Given the description of an element on the screen output the (x, y) to click on. 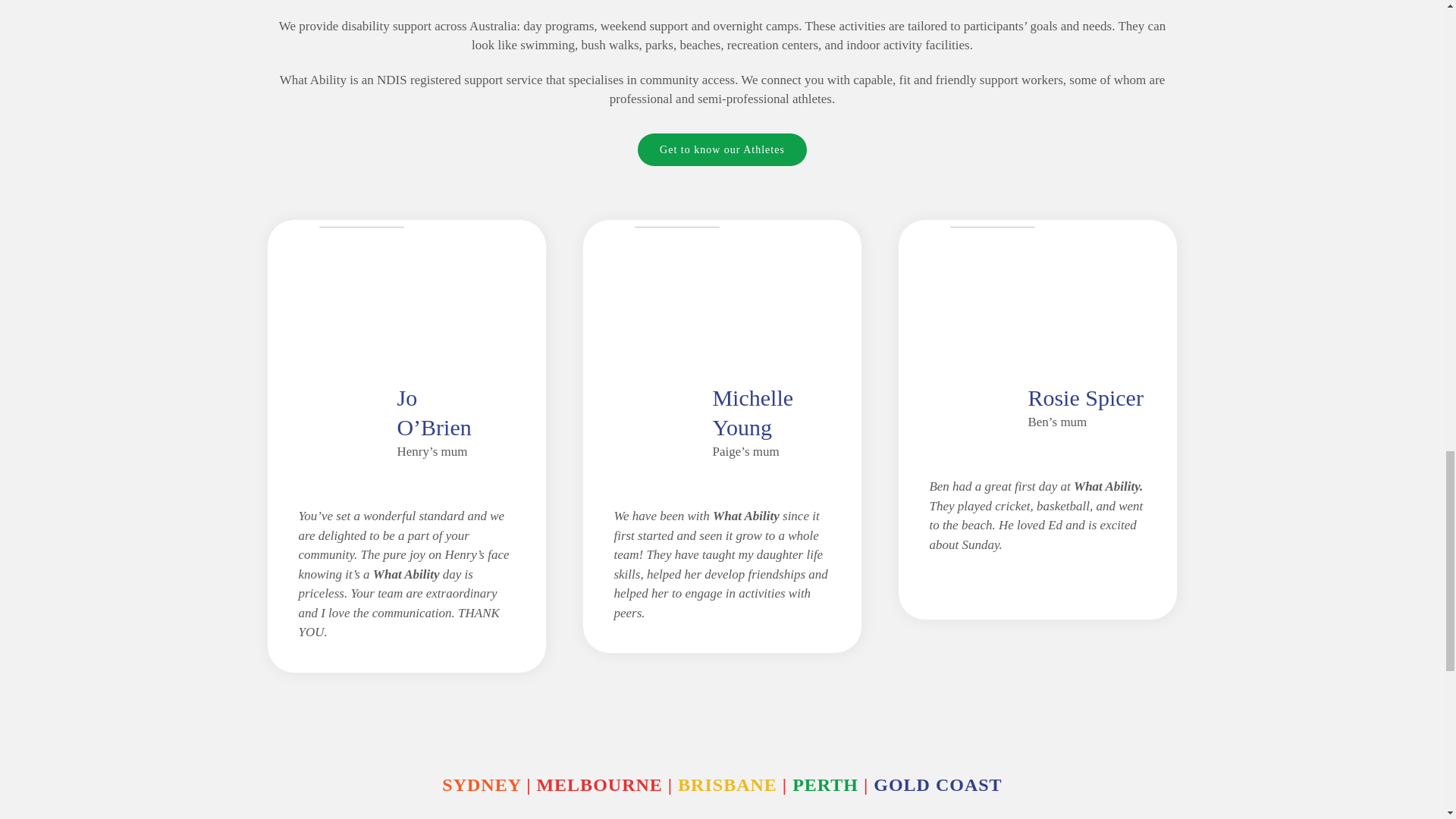
Untitled-1 (676, 280)
Ben Spicer (992, 280)
